Given the description of an element on the screen output the (x, y) to click on. 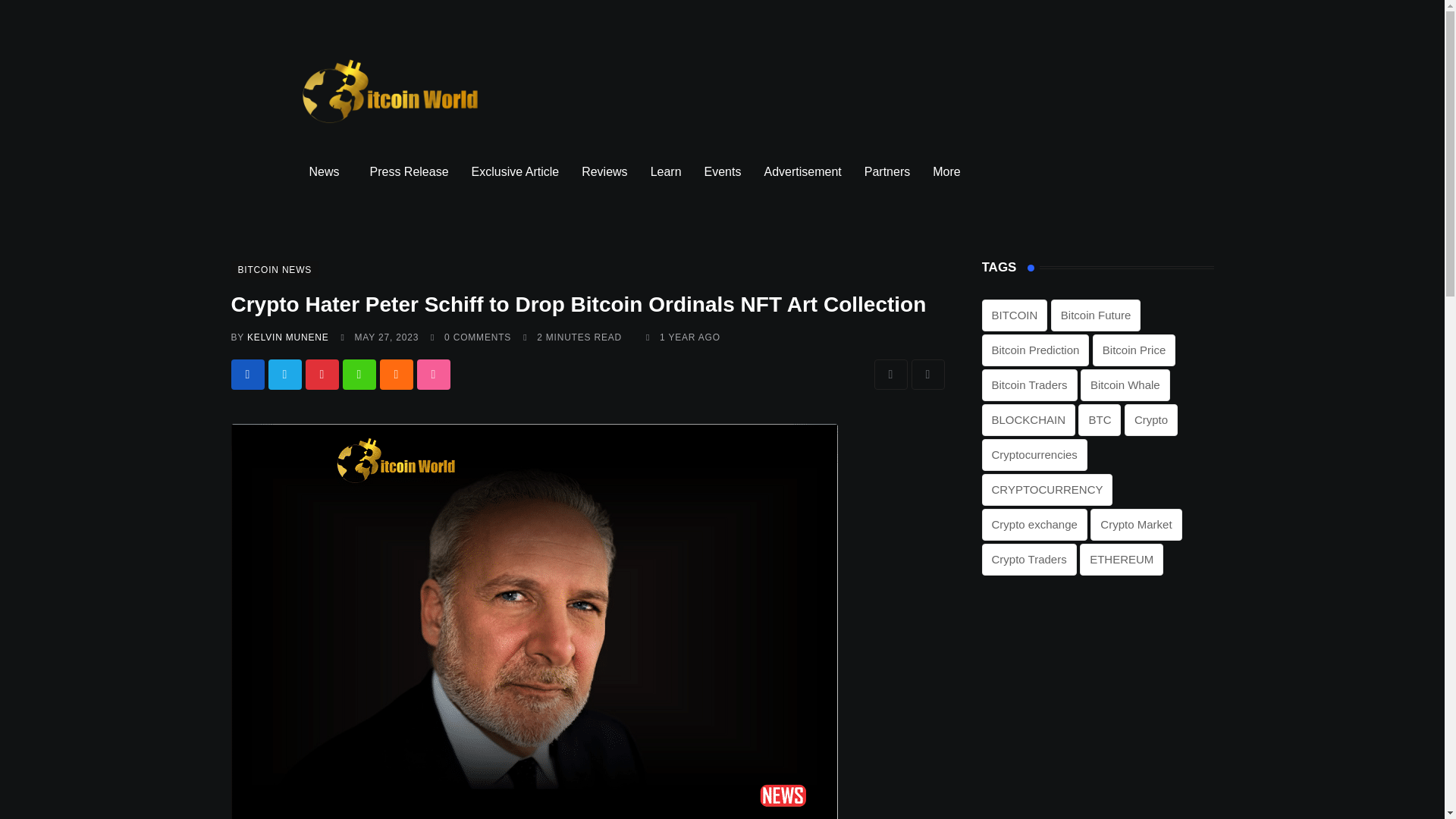
News (327, 171)
Exclusive Article (515, 171)
BITCOIN NEWS (274, 268)
KELVIN MUNENE (288, 337)
Reviews (604, 171)
Events (722, 171)
Learn (666, 171)
Posts by Kelvin Munene (288, 337)
Advertisement (801, 171)
Partners (887, 171)
